Given the description of an element on the screen output the (x, y) to click on. 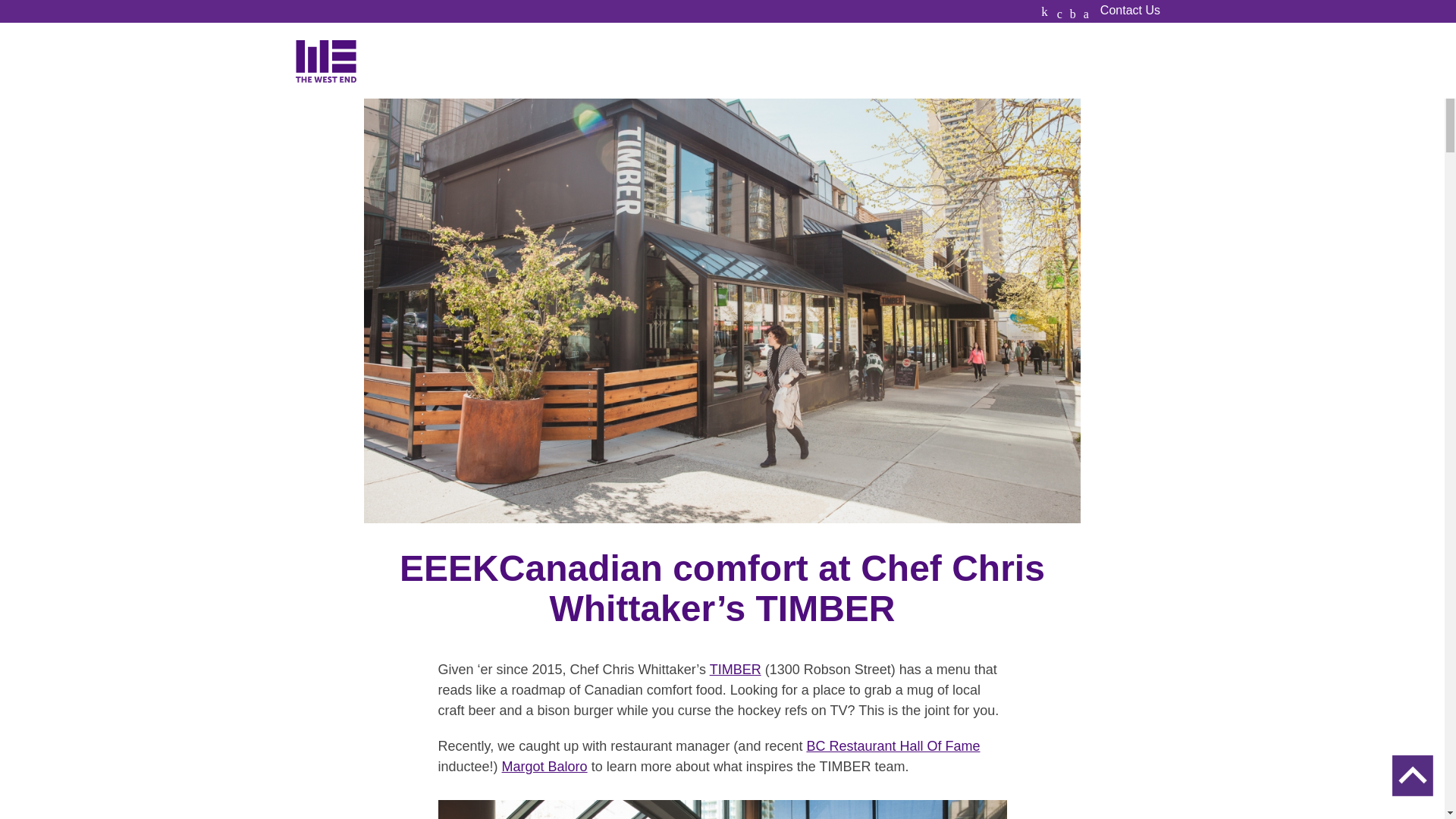
Contact Us (1130, 10)
